Given the description of an element on the screen output the (x, y) to click on. 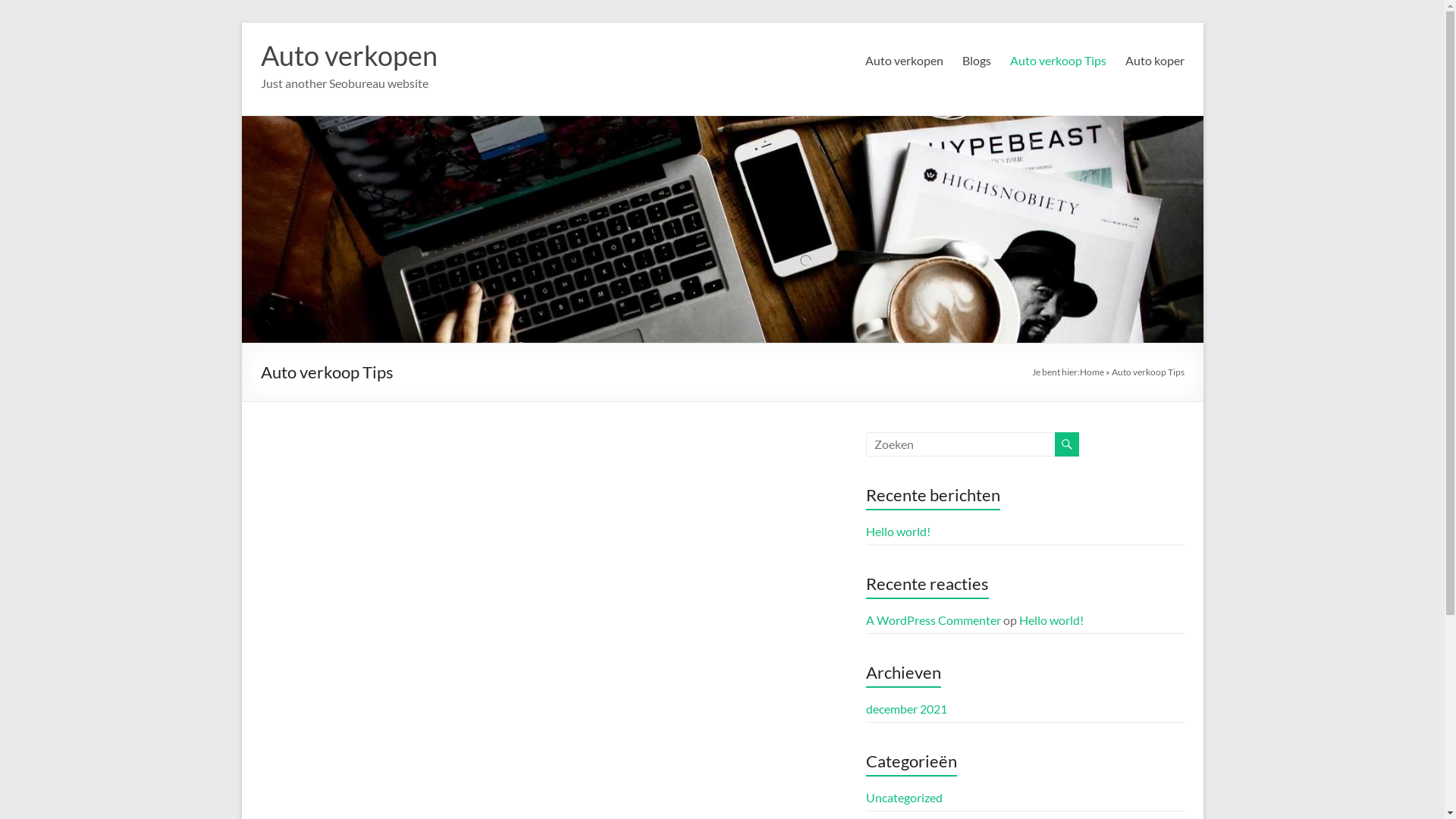
Uncategorized Element type: text (904, 797)
december 2021 Element type: text (906, 708)
Auto verkopen Element type: text (348, 55)
Blogs Element type: text (975, 60)
Hello world! Element type: text (898, 531)
A WordPress Commenter Element type: text (933, 619)
Home Element type: text (1091, 371)
Auto verkoop Tips Element type: text (1058, 60)
Auto koper Element type: text (1154, 60)
Hello world! Element type: text (1051, 619)
Ga naar inhoud Element type: text (241, 21)
Auto verkopen Element type: text (903, 60)
